Given the description of an element on the screen output the (x, y) to click on. 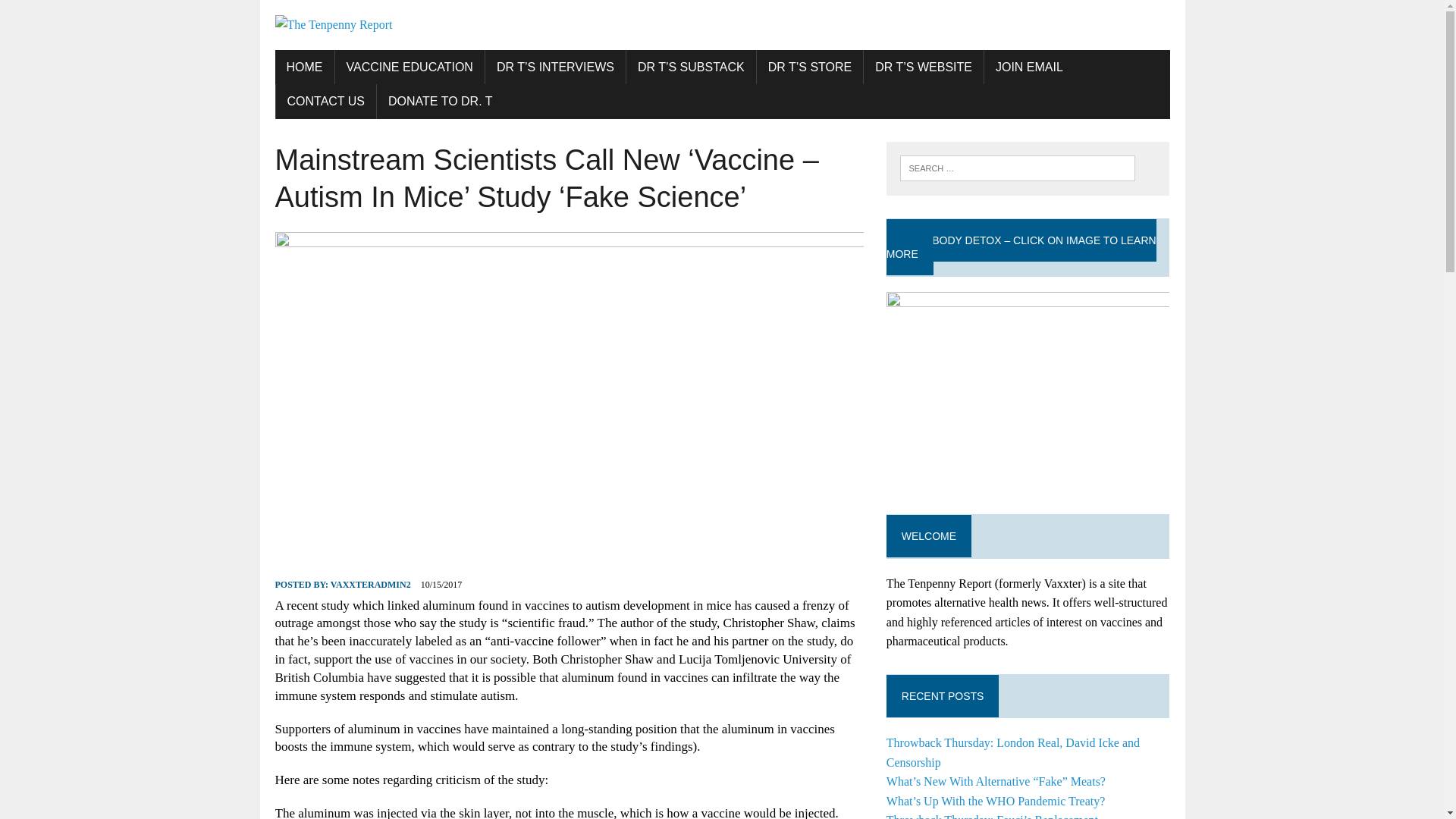
HOME (304, 67)
DONATE TO DR. T (440, 101)
Throwback Thursday: London Real, David Icke and Censorship (1013, 752)
JOIN EMAIL (1029, 67)
The Tenpenny Report (722, 25)
Search (75, 14)
CONTACT US (326, 101)
VAXXTERADMIN2 (370, 584)
VACCINE EDUCATION (409, 67)
Detoxify Safely - Learn More - Click On Image (1028, 391)
